Given the description of an element on the screen output the (x, y) to click on. 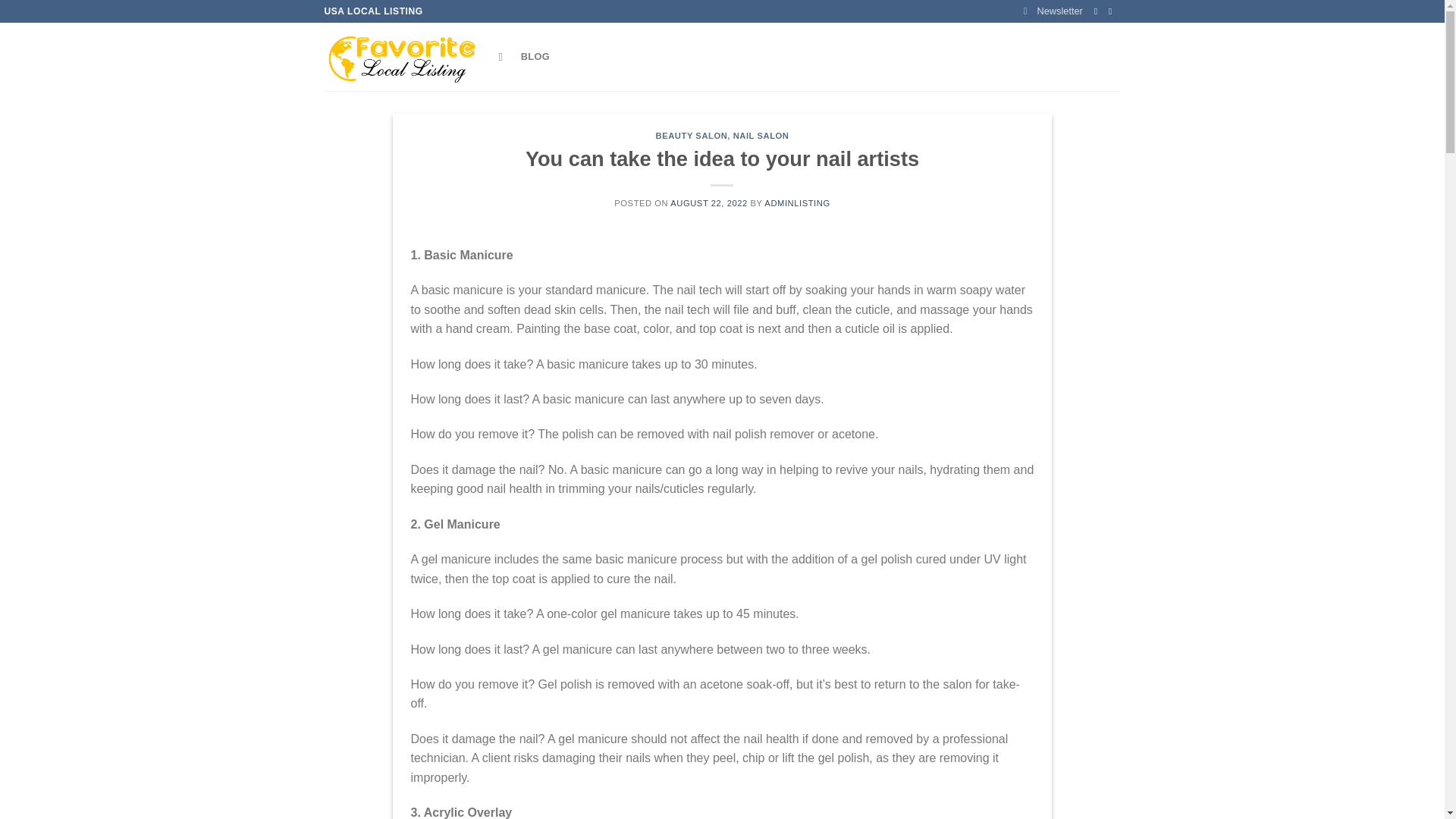
BEAUTY SALON (692, 135)
ADMINLISTING (796, 203)
NAIL SALON (761, 135)
BLOG (535, 56)
AUGUST 22, 2022 (707, 203)
Newsletter (1053, 11)
